Given the description of an element on the screen output the (x, y) to click on. 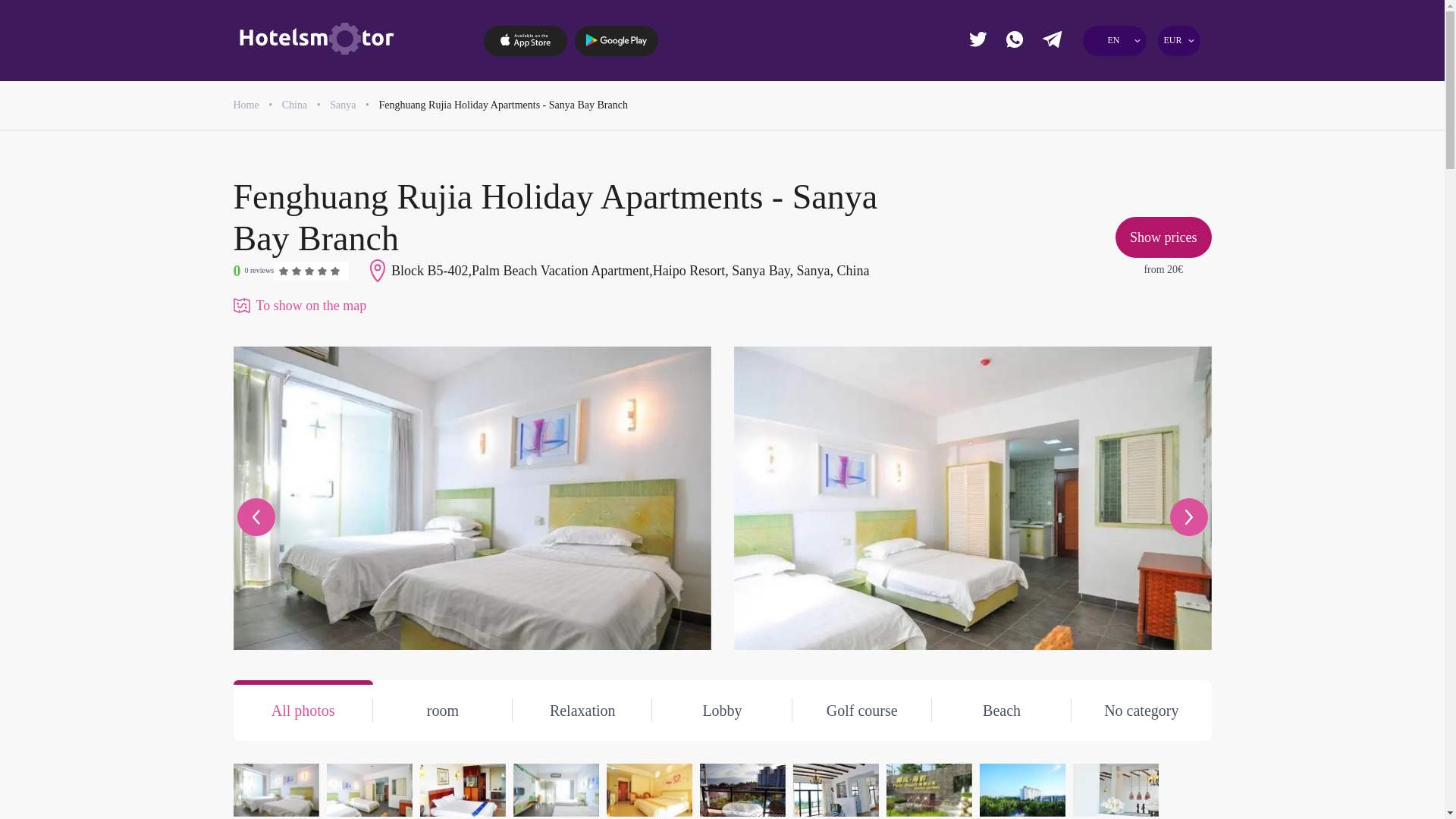
czk (1165, 76)
nok (1165, 104)
jpy (1110, 104)
rub (1165, 131)
try (1165, 161)
usd (1055, 188)
sek (1110, 161)
ron (1110, 131)
krw (1055, 161)
dkk (1055, 104)
gbp (1110, 76)
eur (1055, 76)
pln (1055, 131)
